Given the description of an element on the screen output the (x, y) to click on. 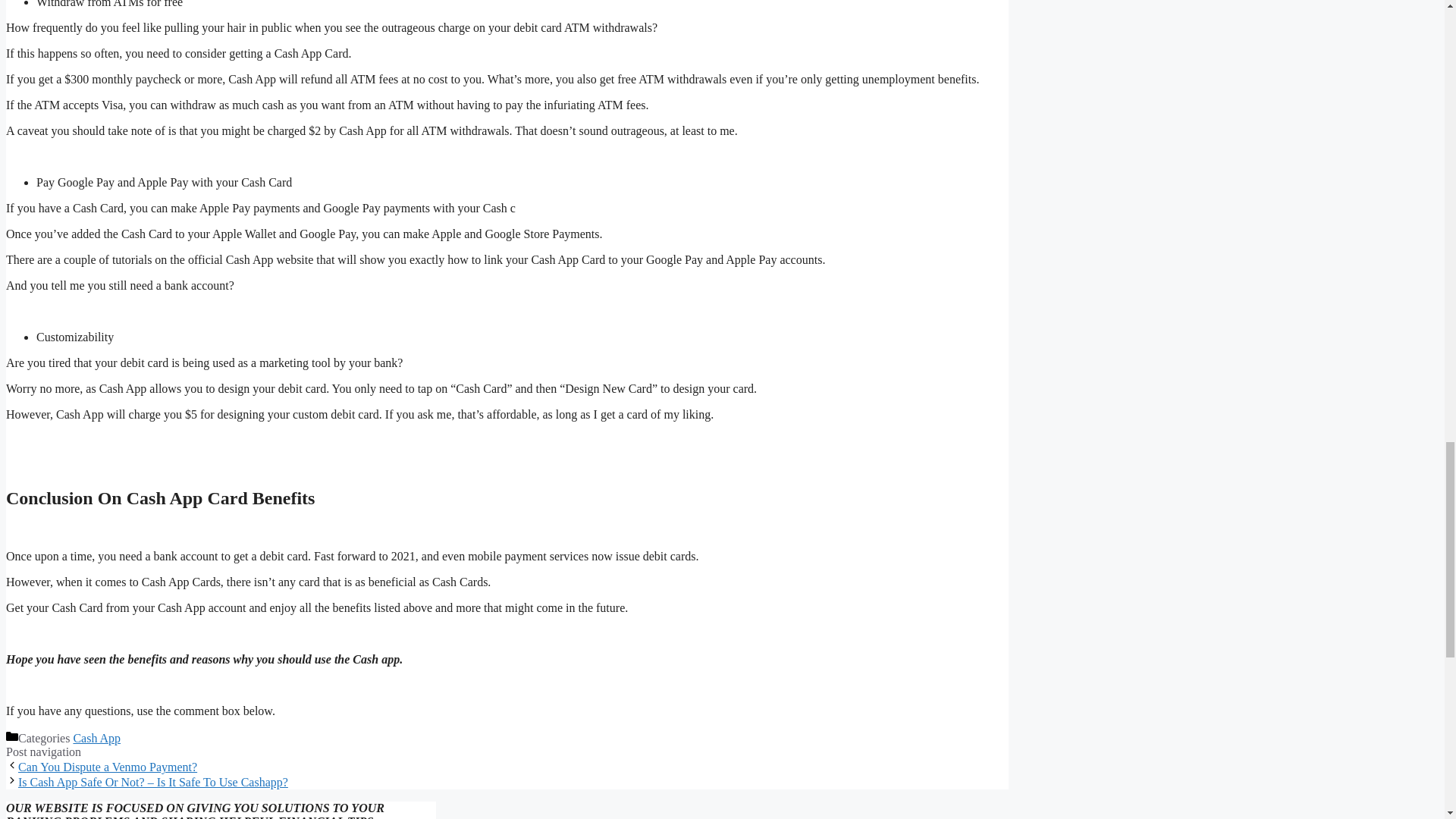
Next (152, 781)
Previous (106, 766)
Can You Dispute a Venmo Payment? (106, 766)
Cash App (96, 738)
